Given the description of an element on the screen output the (x, y) to click on. 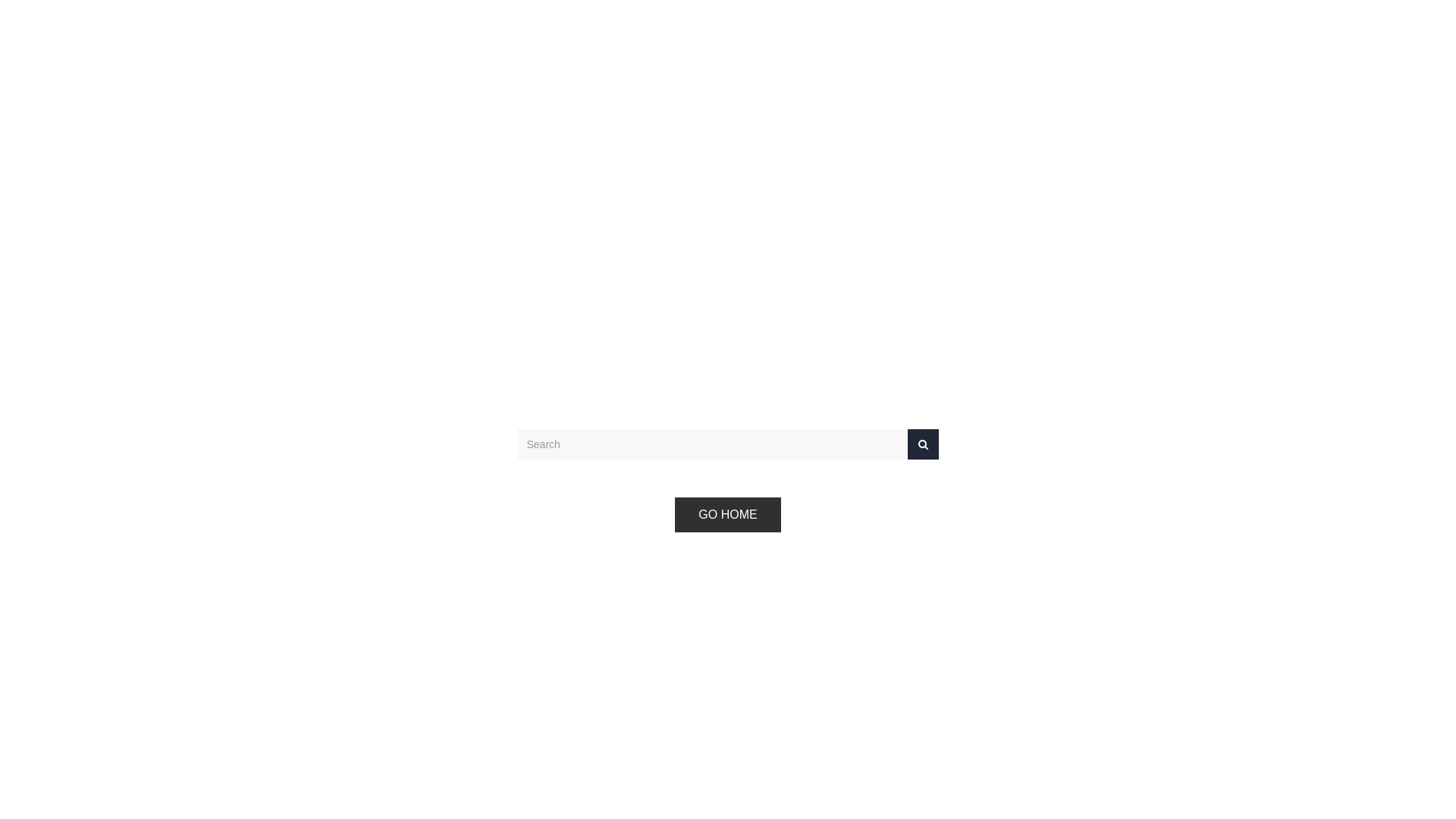
GO HOME Element type: text (727, 514)
